Given the description of an element on the screen output the (x, y) to click on. 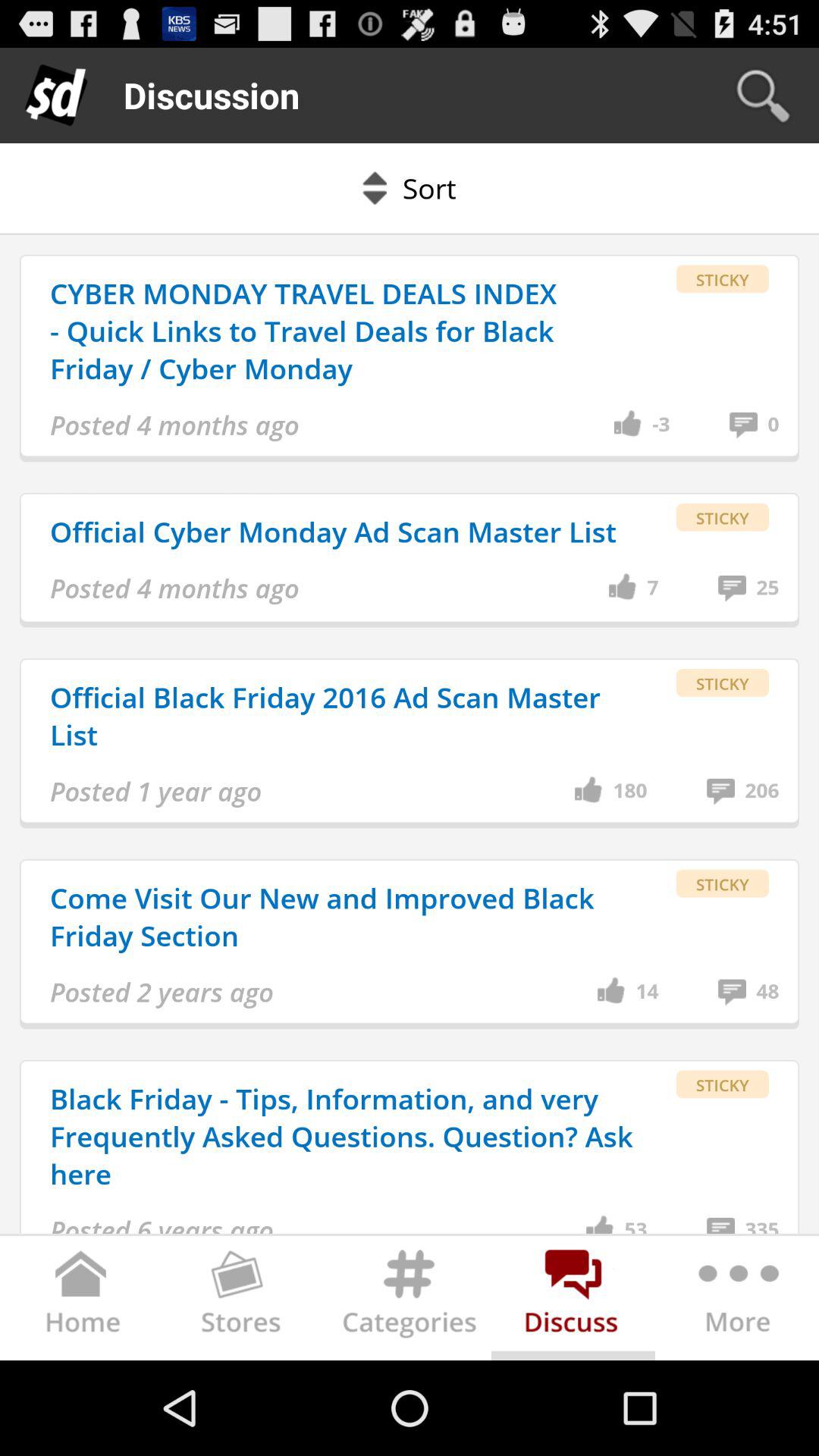
click the icon above the sticky app (660, 425)
